Given the description of an element on the screen output the (x, y) to click on. 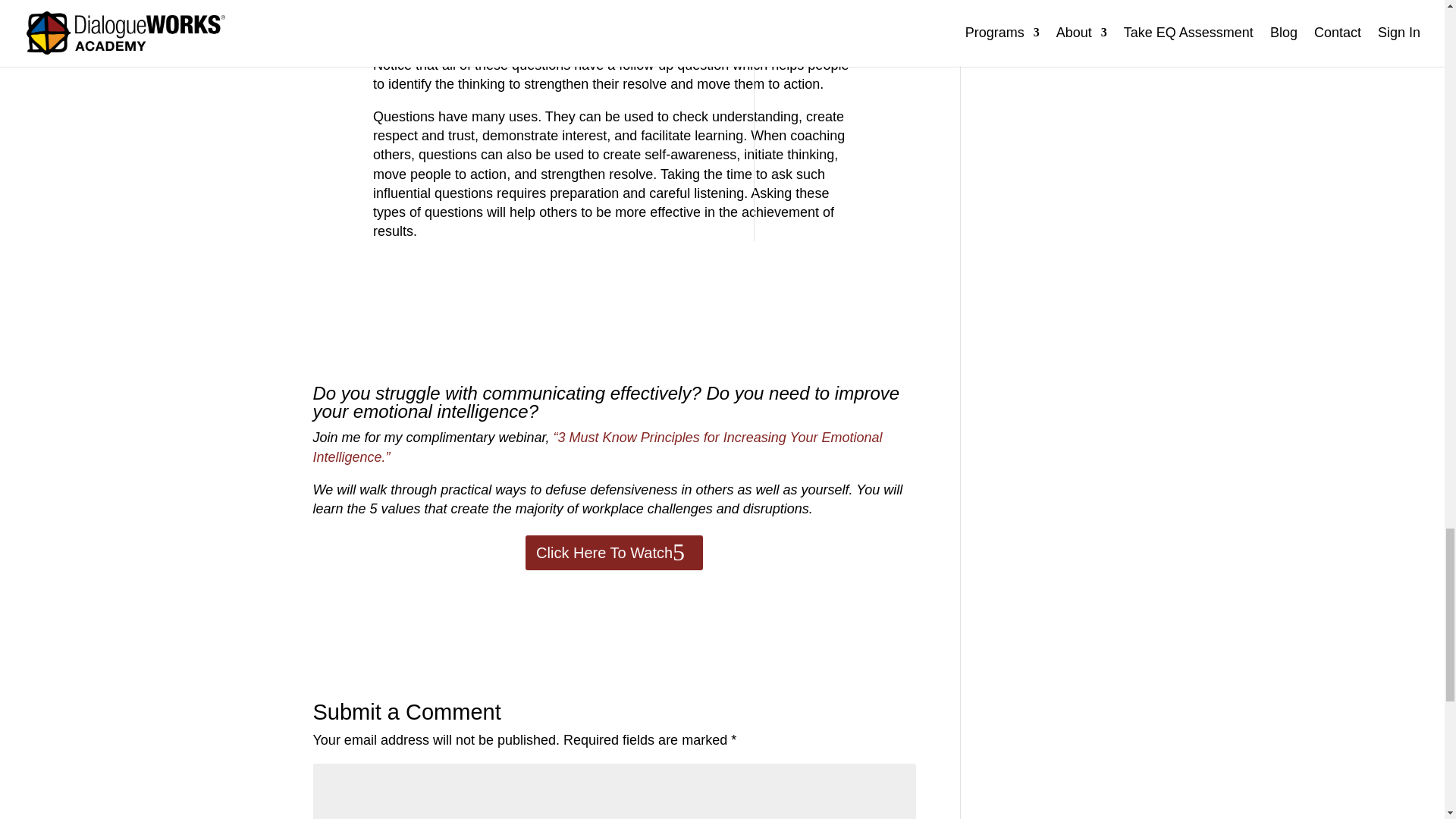
Click Here To Watch (614, 552)
